Given the description of an element on the screen output the (x, y) to click on. 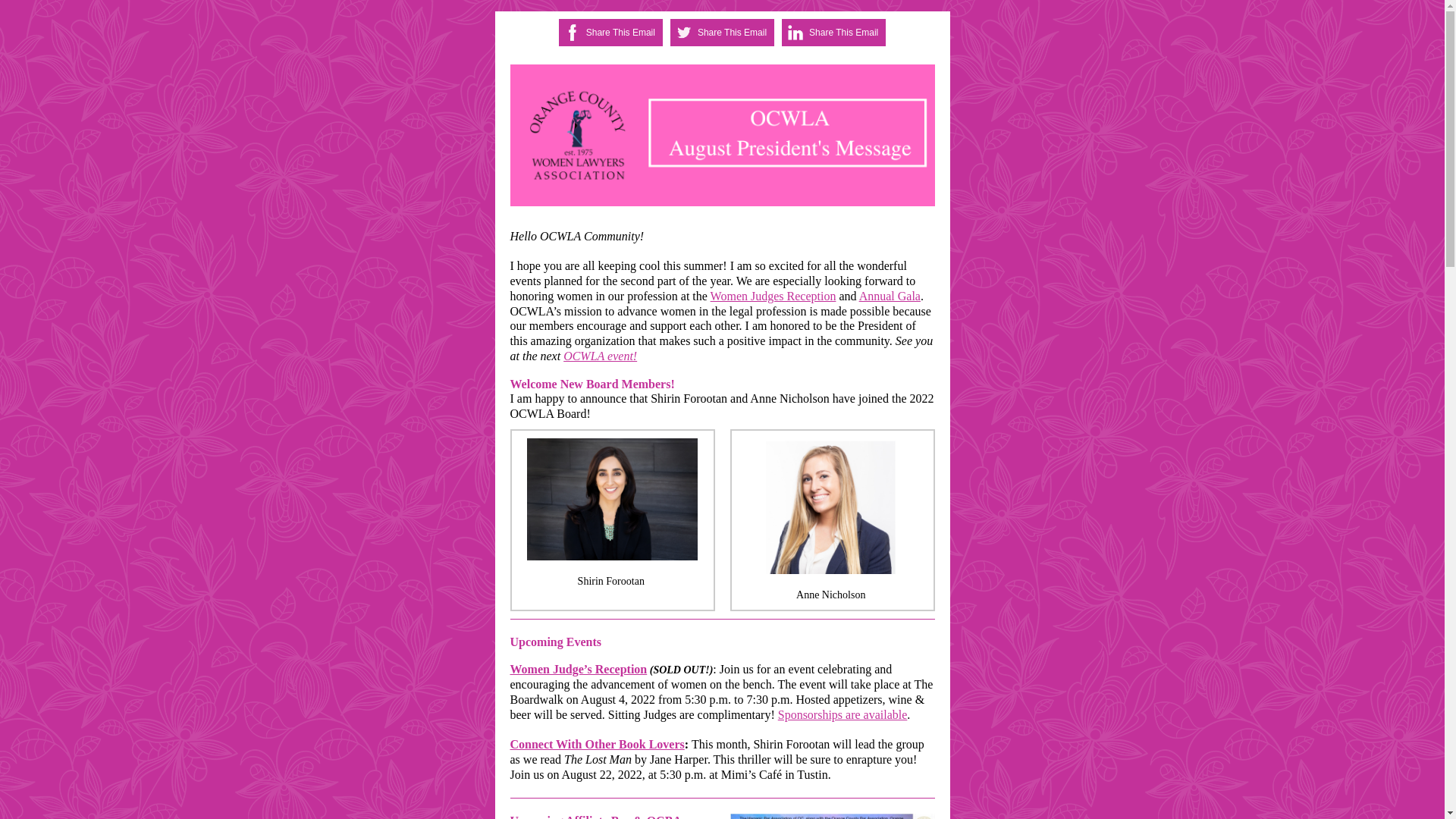
OCWLA event! (600, 355)
Women Judges Reception (772, 295)
Share This Email (843, 32)
Share This Email (620, 32)
Annual Gala (889, 295)
Connect With Other Book Lovers (596, 744)
Share This Email (732, 32)
Upcoming Events (554, 641)
Sponsorships are available (842, 714)
